Given the description of an element on the screen output the (x, y) to click on. 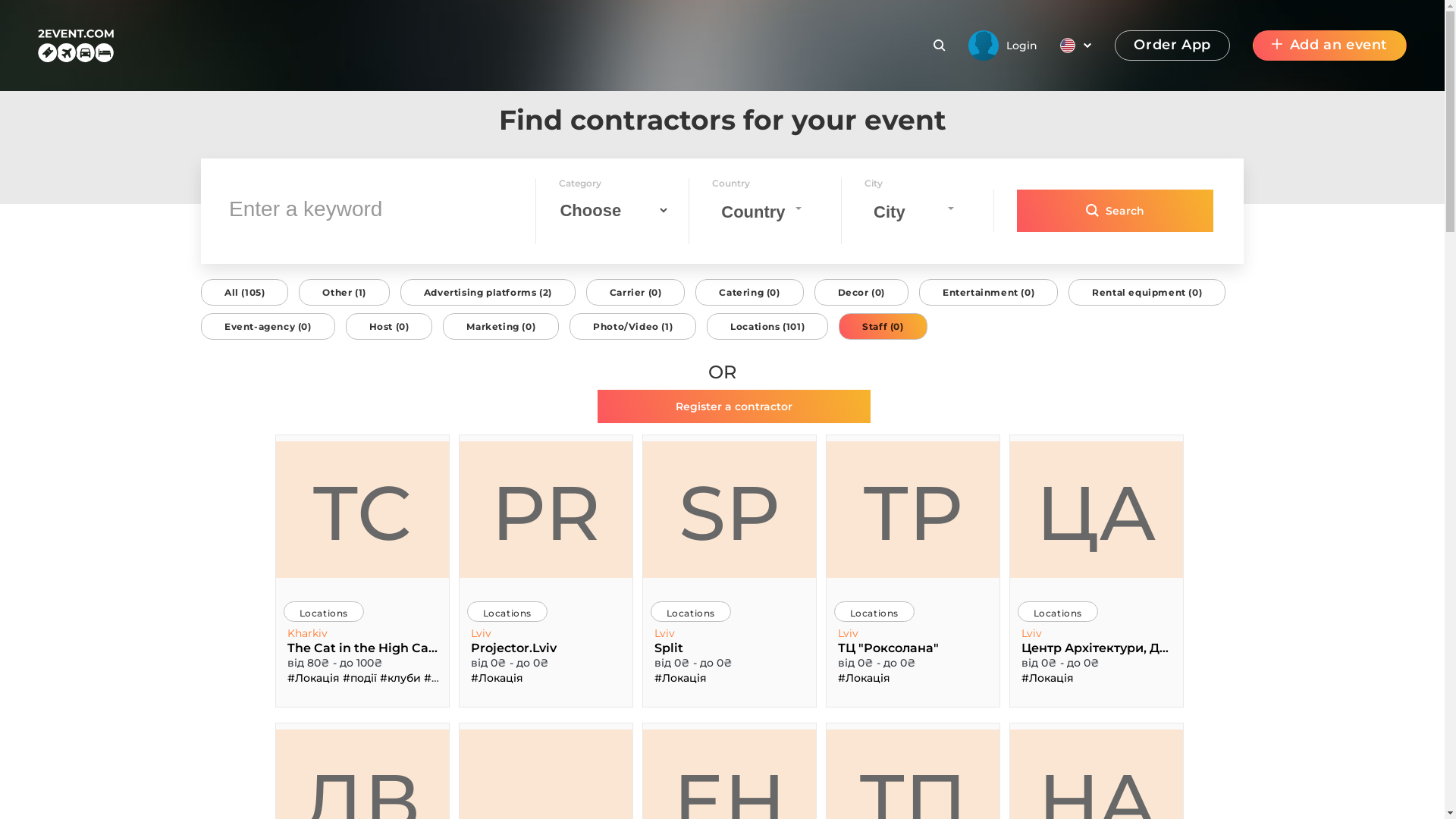
Order App Element type: text (1171, 45)
Locations Element type: text (507, 611)
Kharkiv Element type: text (308, 633)
Lviv Element type: text (665, 633)
Photo/Video (1) Element type: text (632, 320)
Lviv Element type: text (1032, 633)
Catering (0) Element type: text (749, 286)
Register a contractor Element type: text (721, 406)
SP Element type: text (729, 509)
Projector.Lviv Element type: text (545, 647)
The Cat in the High Castle Element type: text (362, 647)
Split Element type: text (729, 647)
Carrier (0) Element type: text (635, 286)
Lviv Element type: text (482, 633)
Lviv Element type: text (849, 633)
Decor (0) Element type: text (861, 286)
PR Element type: text (545, 509)
All (105) Element type: text (244, 286)
Add an event Element type: text (1329, 45)
Locations Element type: text (1057, 611)
Marketing (0) Element type: text (500, 320)
Locations Element type: text (874, 611)
Rental equipment (0) Element type: text (1146, 286)
Advertising platforms (2) Element type: text (487, 286)
Entertainment (0) Element type: text (988, 286)
Locations Element type: text (690, 611)
TC Element type: text (362, 509)
Staff (0) Element type: text (882, 320)
Locations Element type: text (323, 611)
Register a contractor Element type: text (733, 406)
Other (1) Element type: text (343, 286)
Event-agency (0) Element type: text (267, 320)
Search Element type: text (1114, 210)
Host (0) Element type: text (389, 320)
Login Element type: text (1002, 45)
Locations (101) Element type: text (767, 320)
